Given the description of an element on the screen output the (x, y) to click on. 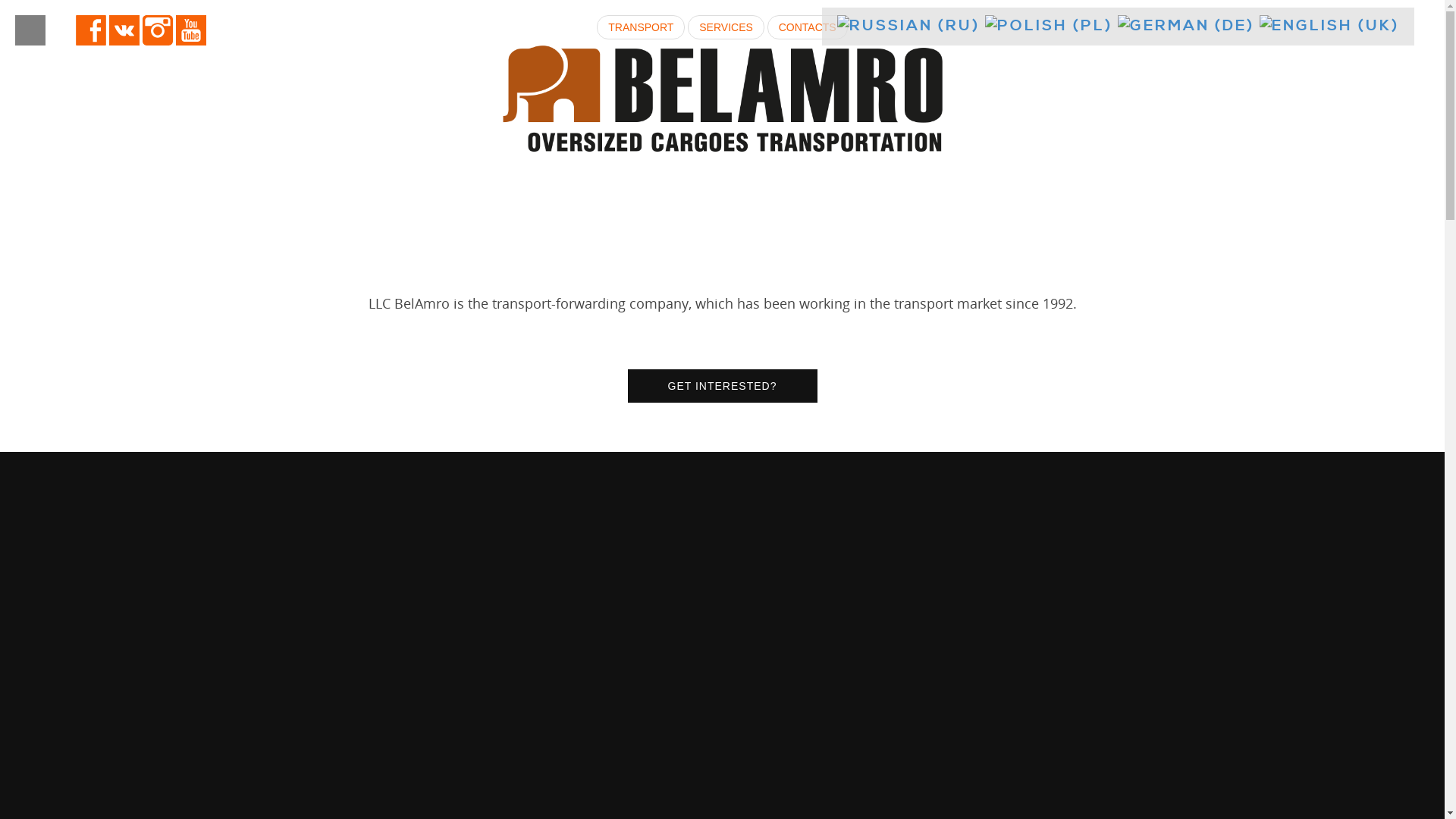
German (De) Element type: hover (1185, 26)
LLC BelAmro transport-forwarding company Element type: hover (721, 98)
Russian (RU) Element type: hover (908, 26)
TRANSPORT Element type: text (640, 27)
SERVICES Element type: text (725, 27)
GET INTERESTED? Element type: text (722, 385)
Polish (Pl) Element type: hover (1048, 26)
English (UK) Element type: hover (1329, 26)
CONTACTS Element type: text (807, 27)
